Given the description of an element on the screen output the (x, y) to click on. 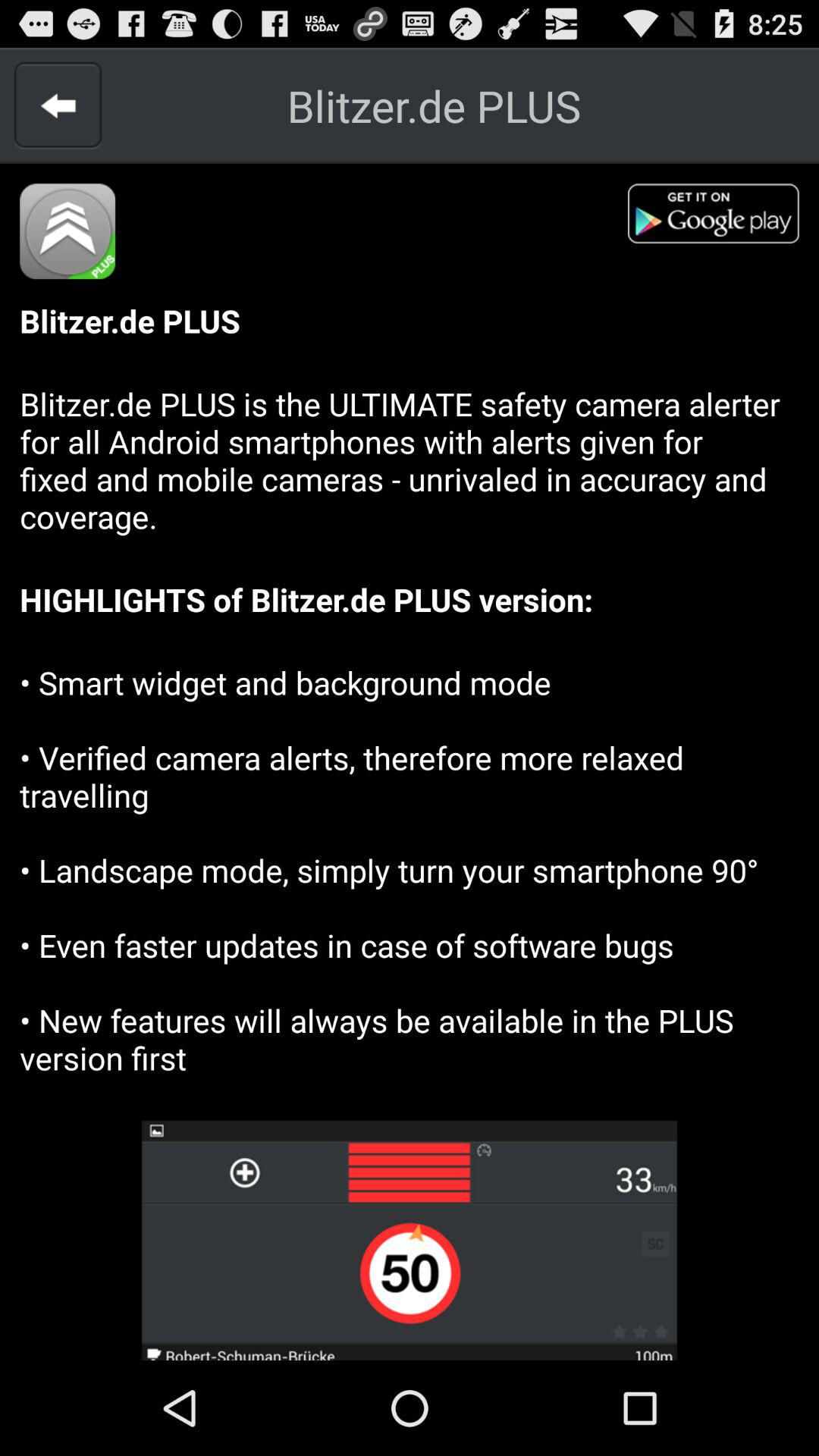
select icon to the left of the blitzer.de plus app (57, 105)
